Given the description of an element on the screen output the (x, y) to click on. 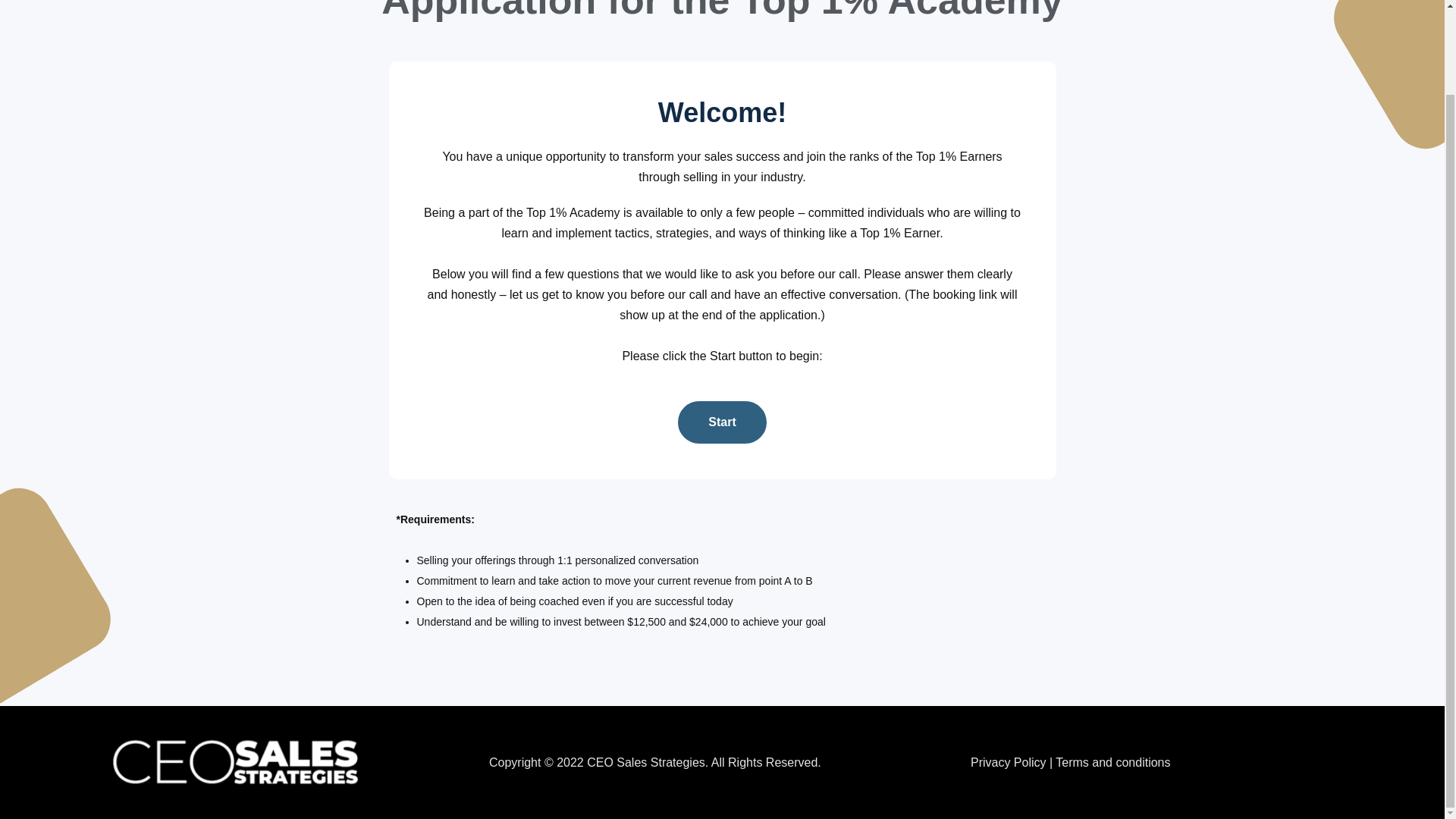
Terms and conditions (1112, 762)
Privacy Policy (1008, 762)
Start (722, 422)
